Given the description of an element on the screen output the (x, y) to click on. 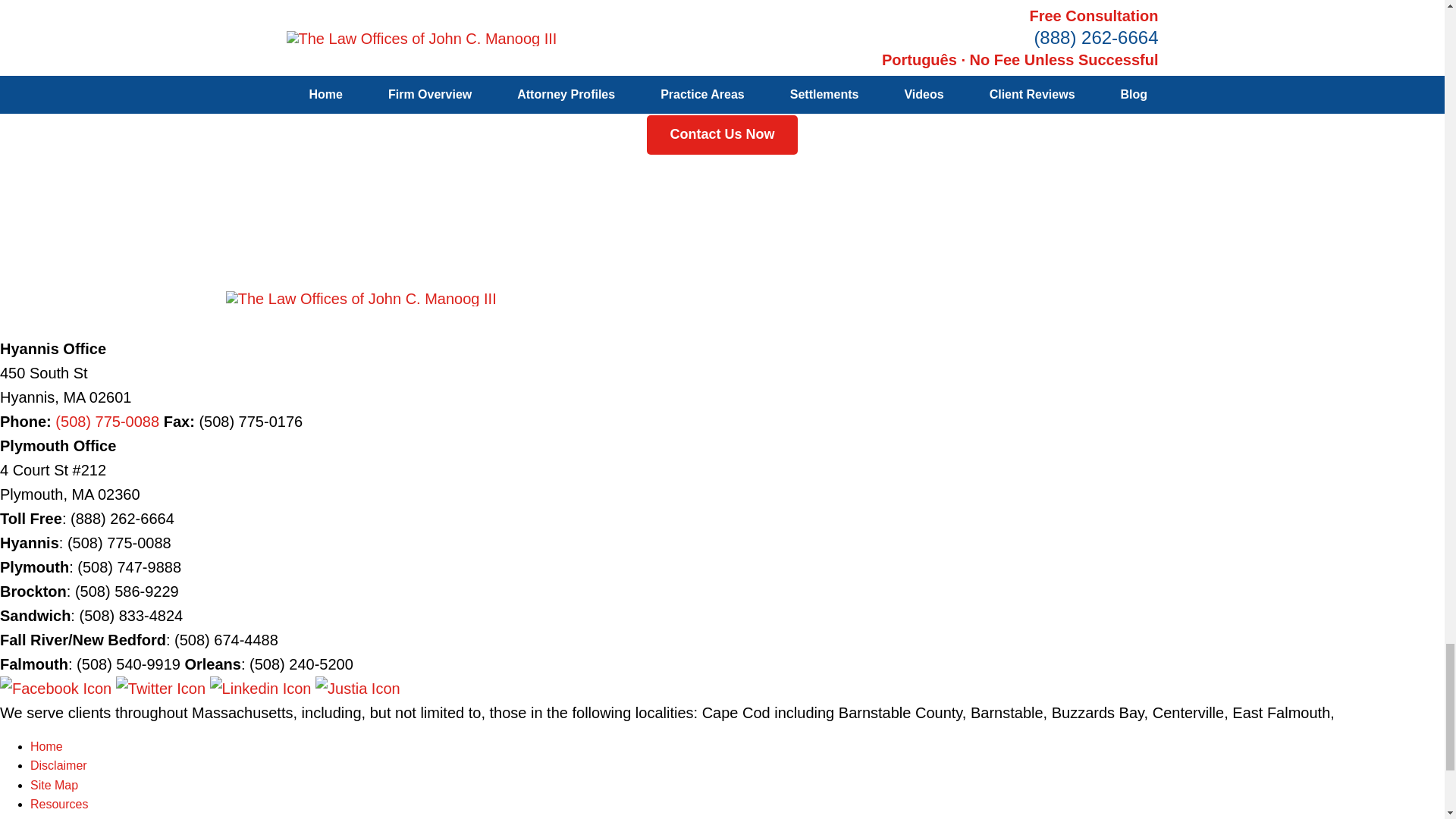
Linkedin (262, 688)
Twitter (162, 688)
Facebook (58, 688)
Contact Us Now (721, 134)
Justia (357, 688)
